Given the description of an element on the screen output the (x, y) to click on. 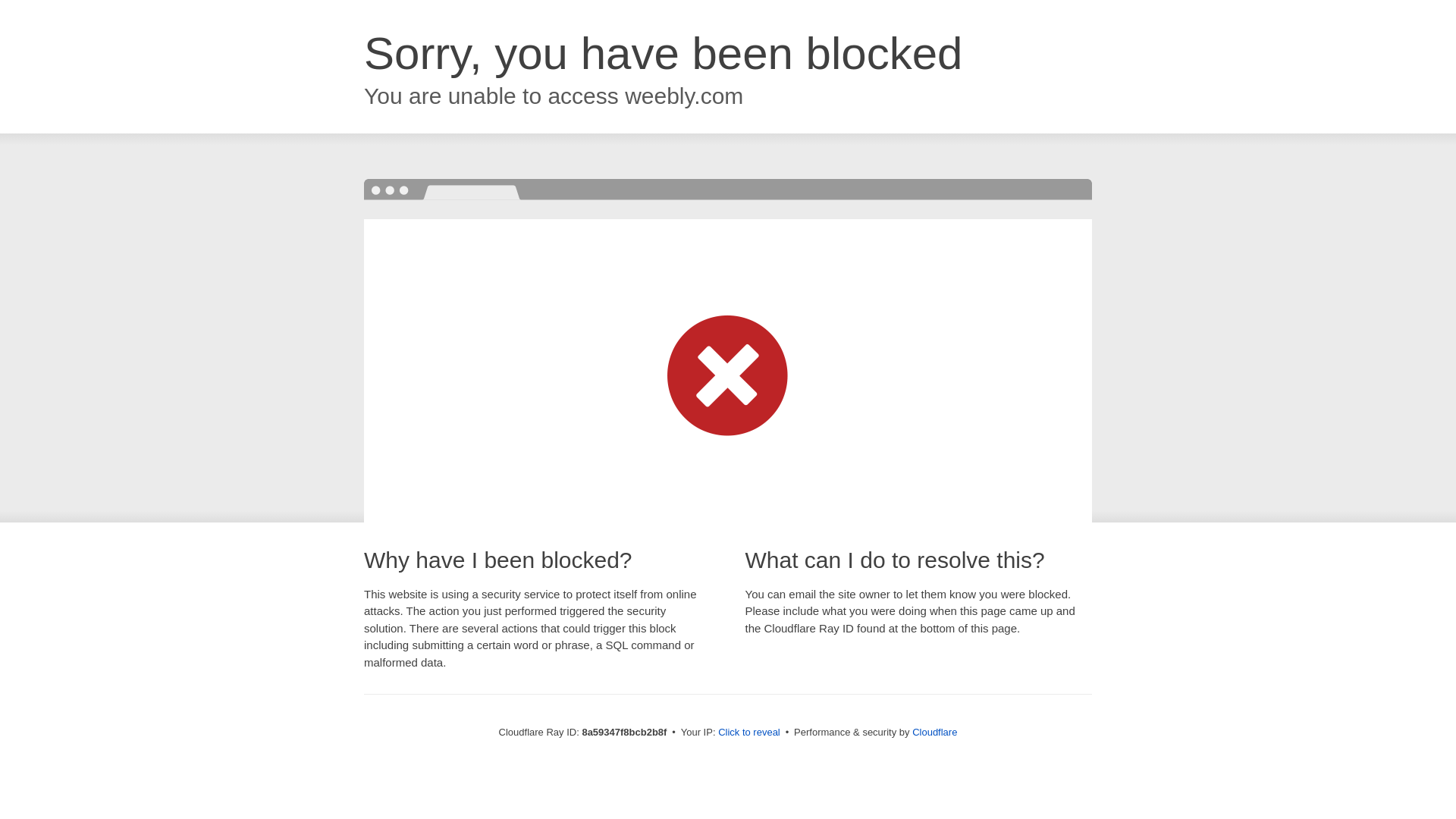
Cloudflare (934, 731)
Click to reveal (748, 732)
